Given the description of an element on the screen output the (x, y) to click on. 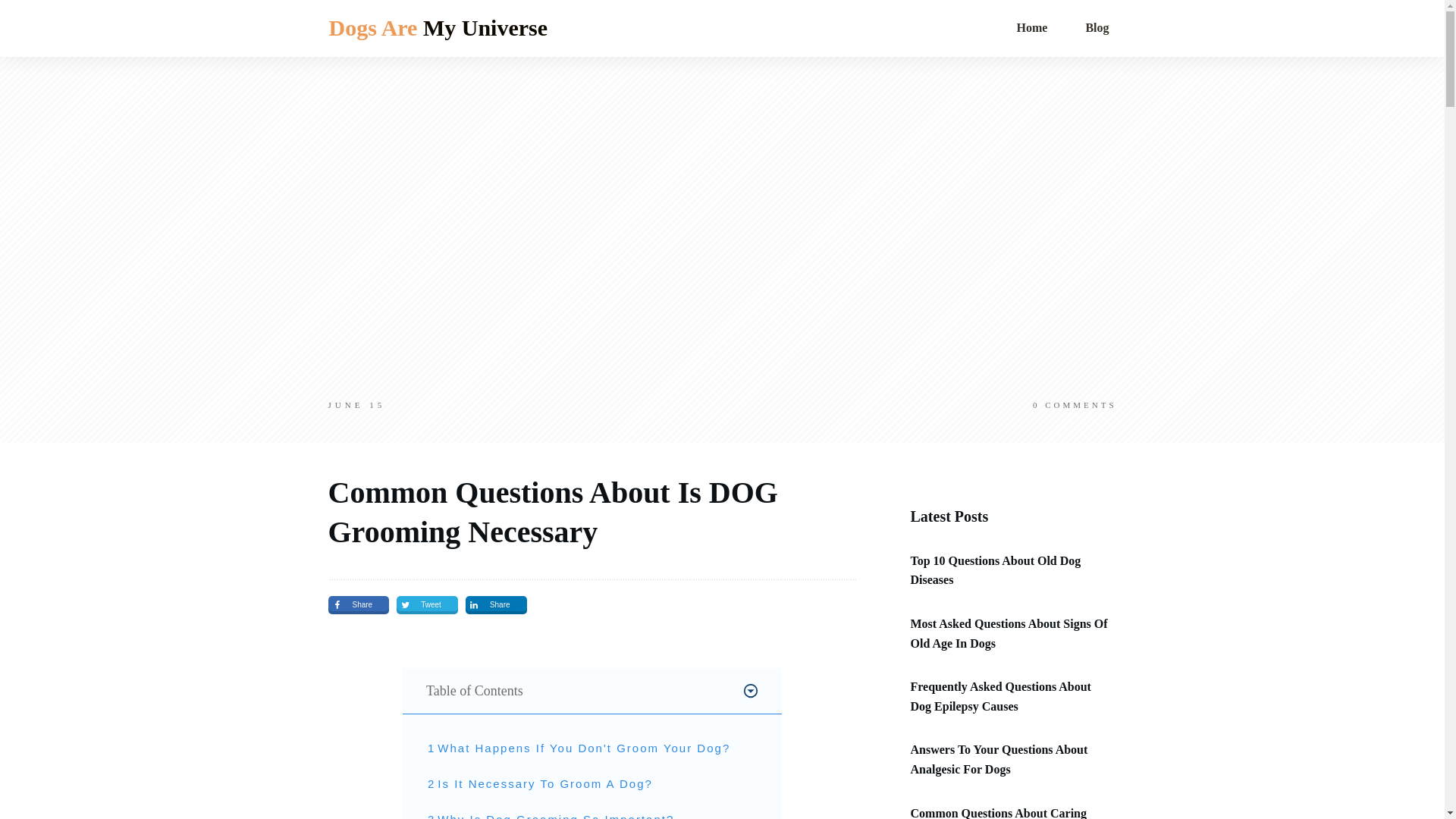
Most Asked Questions About Signs Of Old Age In Dogs (1008, 633)
Share (357, 605)
What Happens If You Don't Groom Your Dog? (584, 748)
Answers To Your Questions About Analgesic For Dogs (998, 758)
Is It Necessary To Groom A Dog? (545, 783)
Common Questions About Is DOG Grooming Necessary (552, 511)
Top 10 Questions About Old Dog Diseases (995, 570)
Share (496, 605)
Why Is Dog Grooming So Important? (556, 814)
3 (431, 814)
Top 10 Questions About Old Dog Diseases (995, 570)
Frequently Asked Questions About Dog Epilepsy Causes (1000, 696)
Most Asked Questions About Signs Of Old Age In Dogs (1008, 633)
Is It Necessary To Groom A Dog? (545, 783)
Blog (1096, 27)
